Given the description of an element on the screen output the (x, y) to click on. 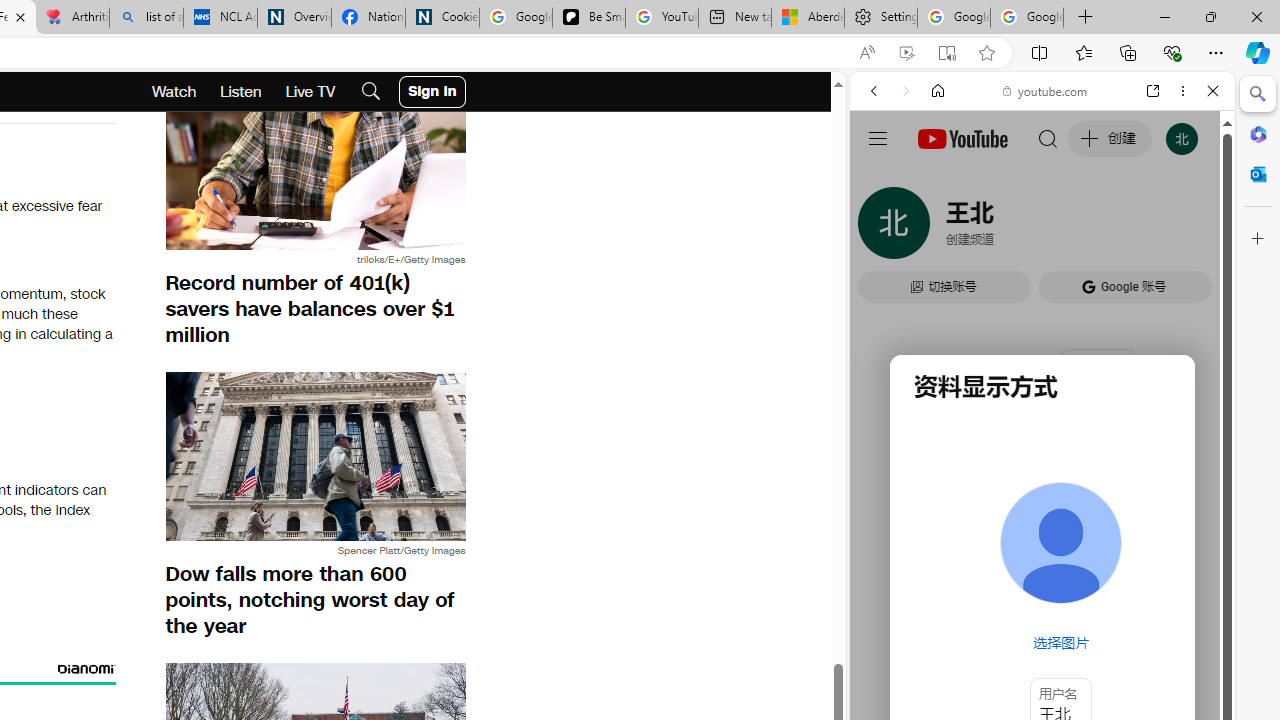
Enhance video (906, 53)
Preferences (1189, 228)
User Account Log In Button (432, 92)
Search Filter, WEB (882, 228)
Show More Music (1164, 546)
Class: b_serphb (1190, 229)
More options (1182, 91)
GettyImages-959095538 copy.jpg (315, 165)
WEB   (882, 228)
#you (1042, 445)
